Given the description of an element on the screen output the (x, y) to click on. 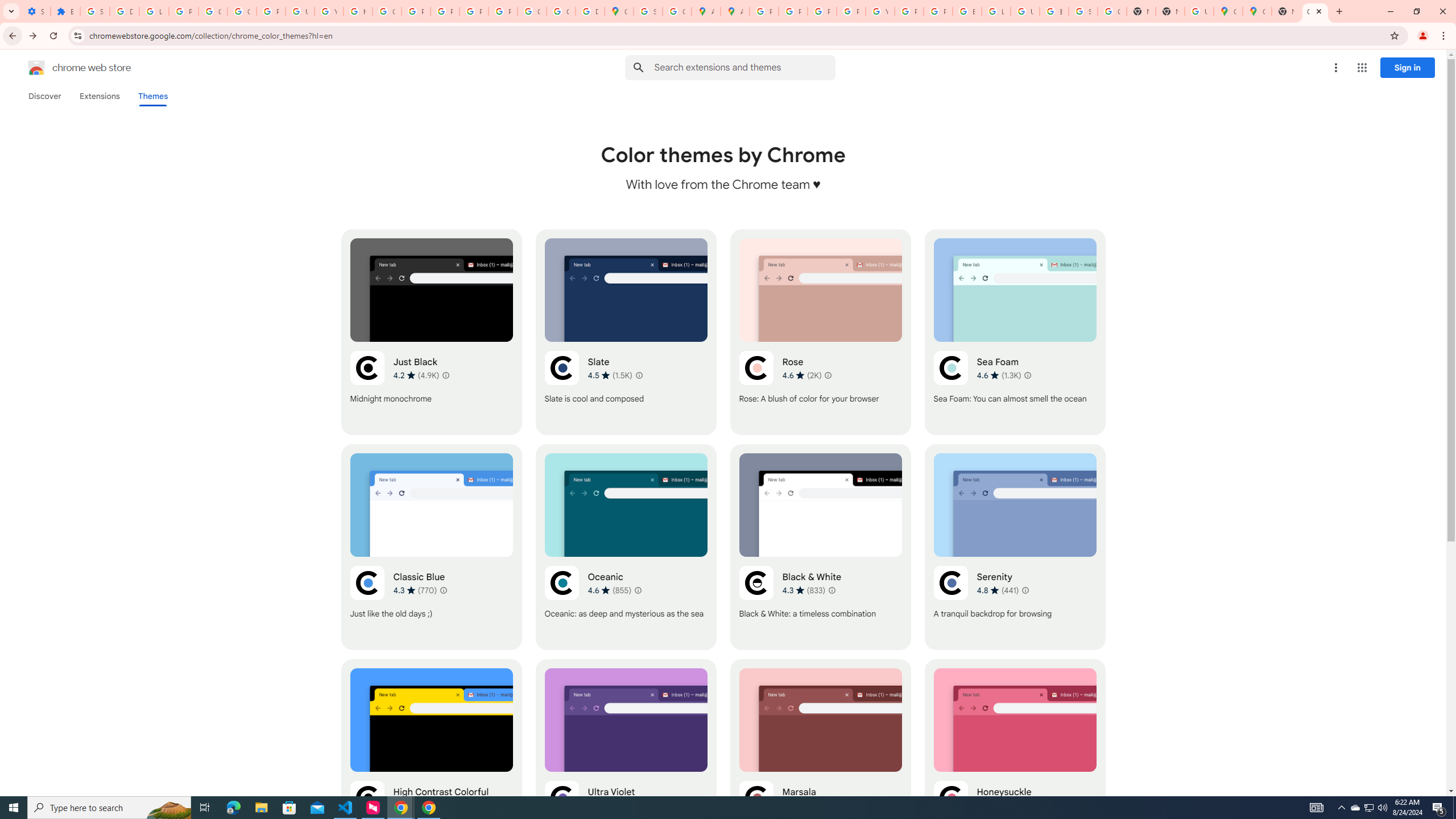
Sign in - Google Accounts (95, 11)
Oceanic (625, 546)
Google Maps (1256, 11)
New Tab (1286, 11)
